Given the description of an element on the screen output the (x, y) to click on. 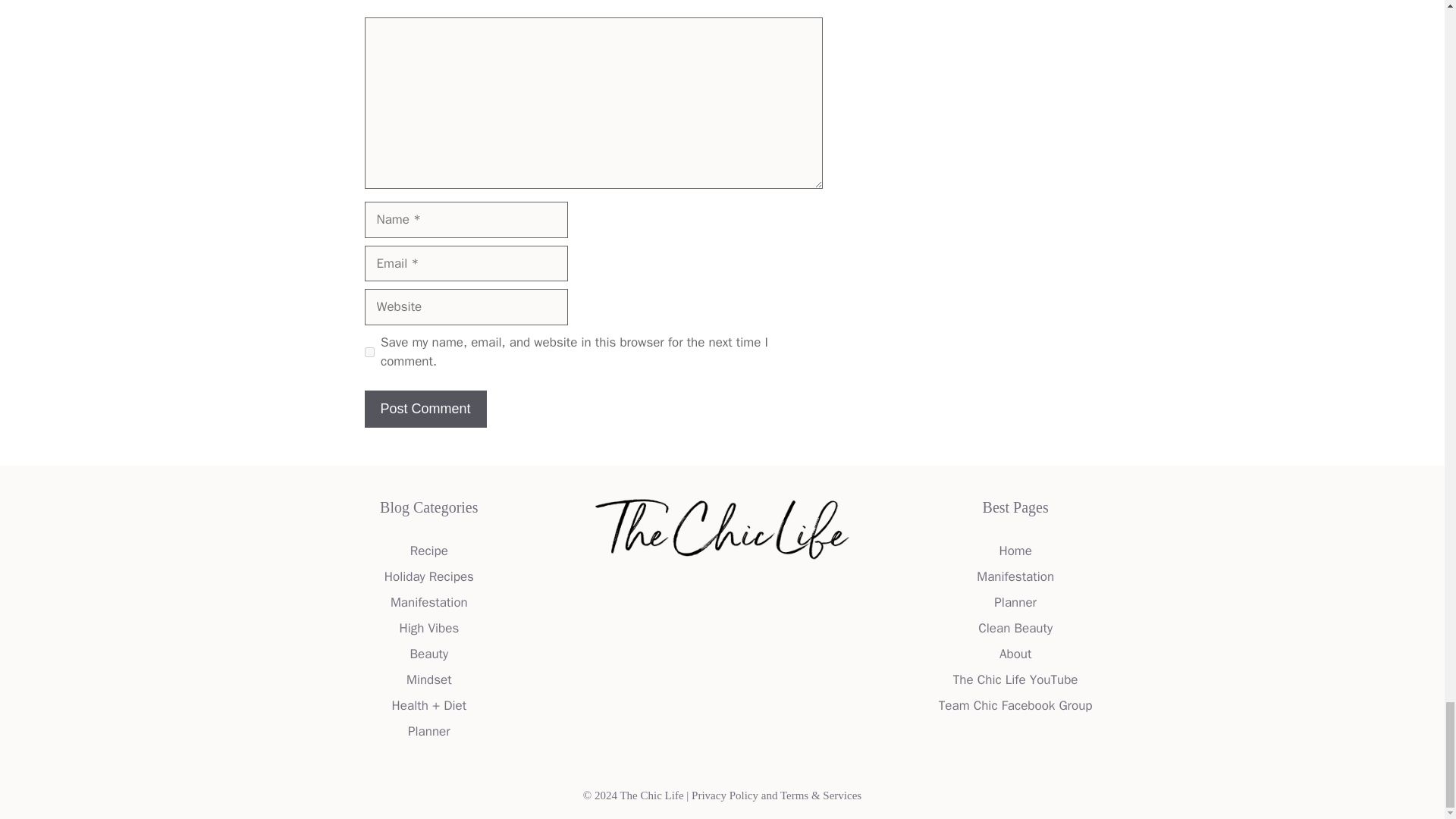
Post Comment (425, 408)
yes (369, 352)
